Given the description of an element on the screen output the (x, y) to click on. 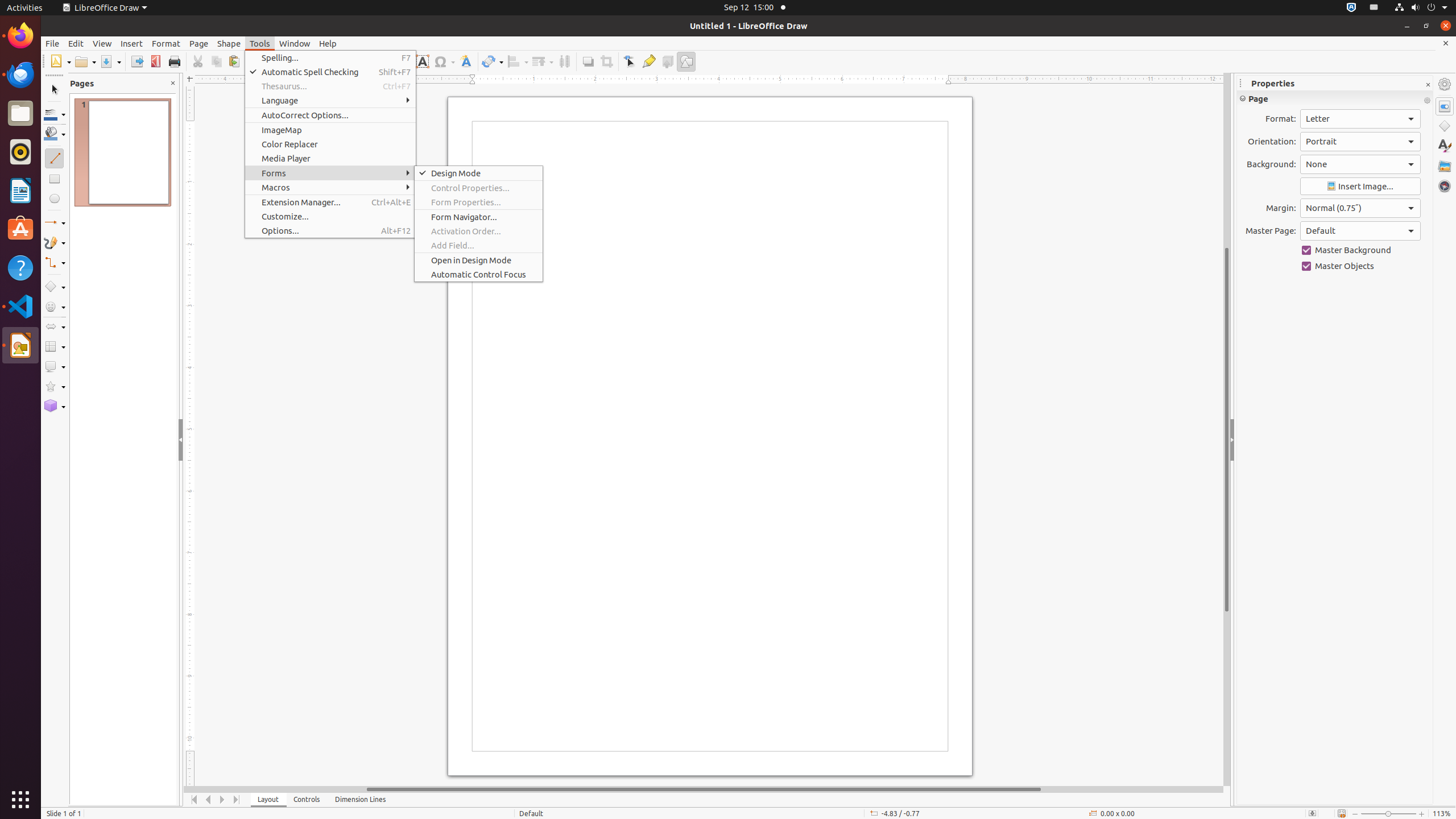
Extension Manager... Element type: menu-item (330, 202)
Rhythmbox Element type: push-button (20, 151)
Background: Element type: combo-box (1360, 164)
Select Element type: push-button (53, 89)
Shape Element type: menu (228, 43)
